Given the description of an element on the screen output the (x, y) to click on. 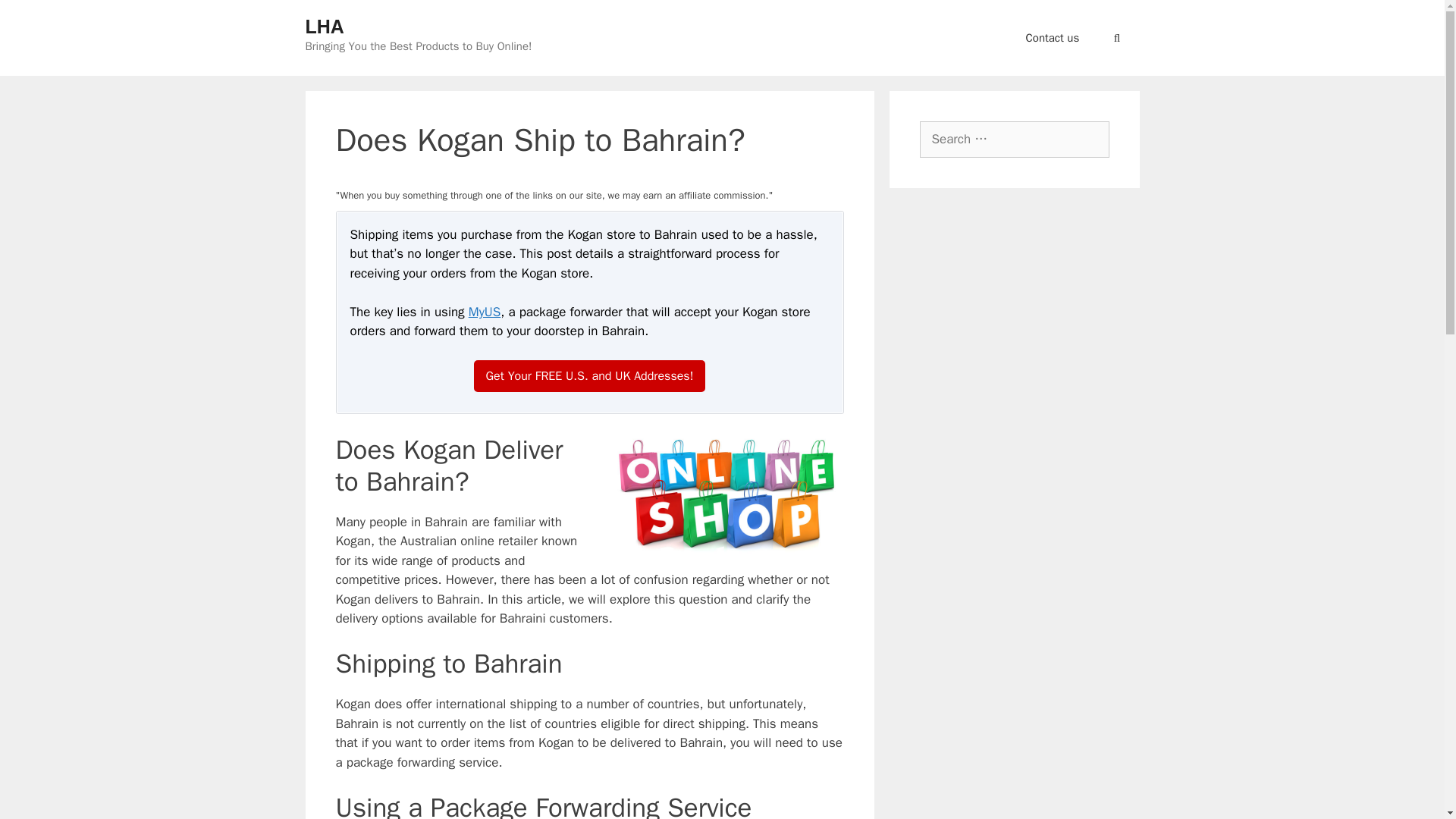
Search (33, 15)
Contact us (1052, 37)
MyUS (484, 311)
Search for: (1013, 139)
Get Your FREE U.S. and UK Addresses! (590, 376)
LHA (323, 25)
